Given the description of an element on the screen output the (x, y) to click on. 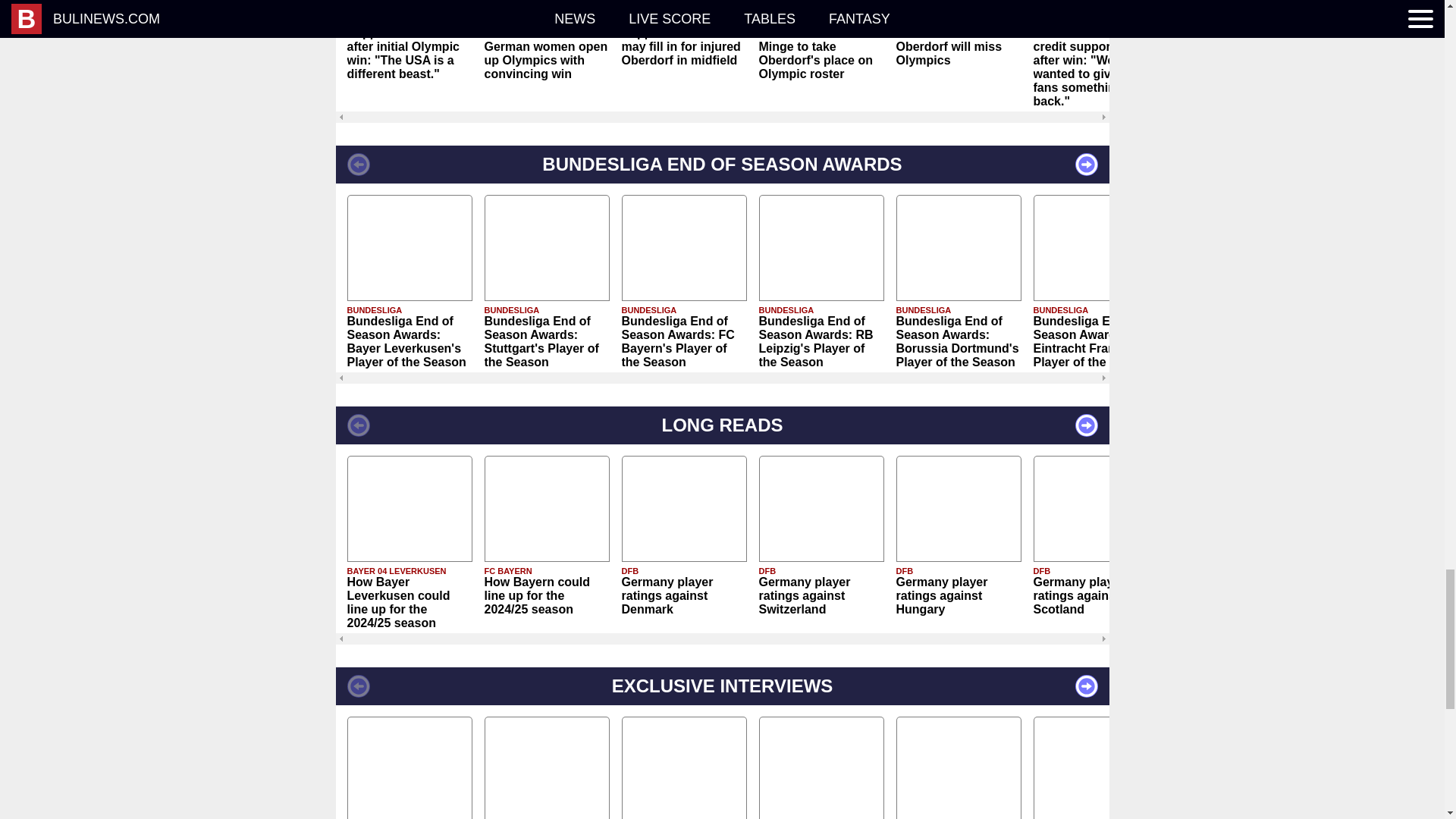
LONG READS (721, 425)
BUNDESLIGA END OF SEASON AWARDS (721, 164)
EXCLUSIVE INTERVIEWS (721, 686)
